Given the description of an element on the screen output the (x, y) to click on. 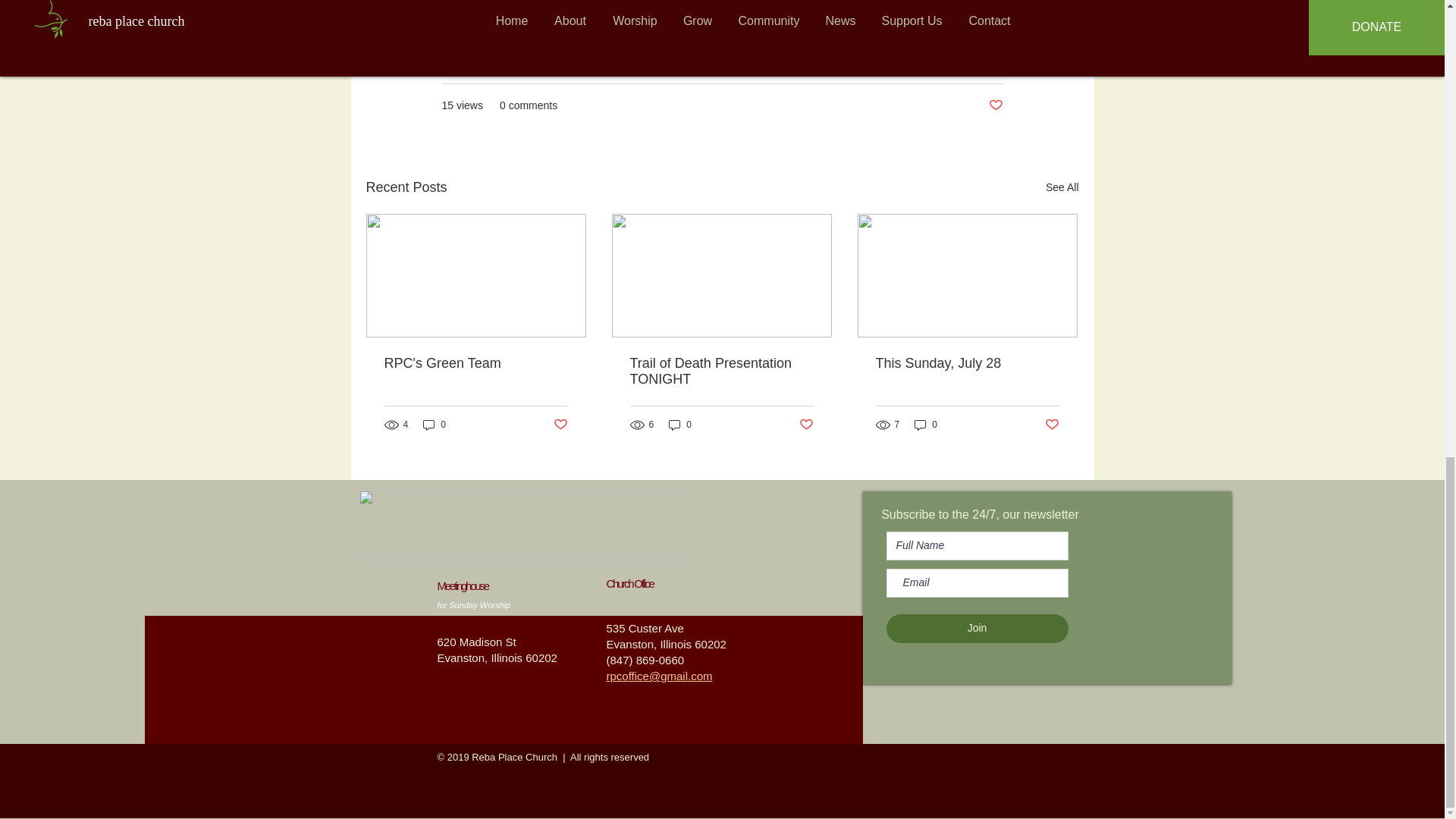
0 (434, 424)
See All (1061, 187)
0 (679, 424)
Post not marked as liked (560, 424)
Post not marked as liked (995, 105)
RPC olive dove white RPC.png (521, 524)
Post not marked as liked (806, 424)
Trail of Death Presentation TONIGHT (720, 371)
RPC's Green Team (475, 363)
